Given the description of an element on the screen output the (x, y) to click on. 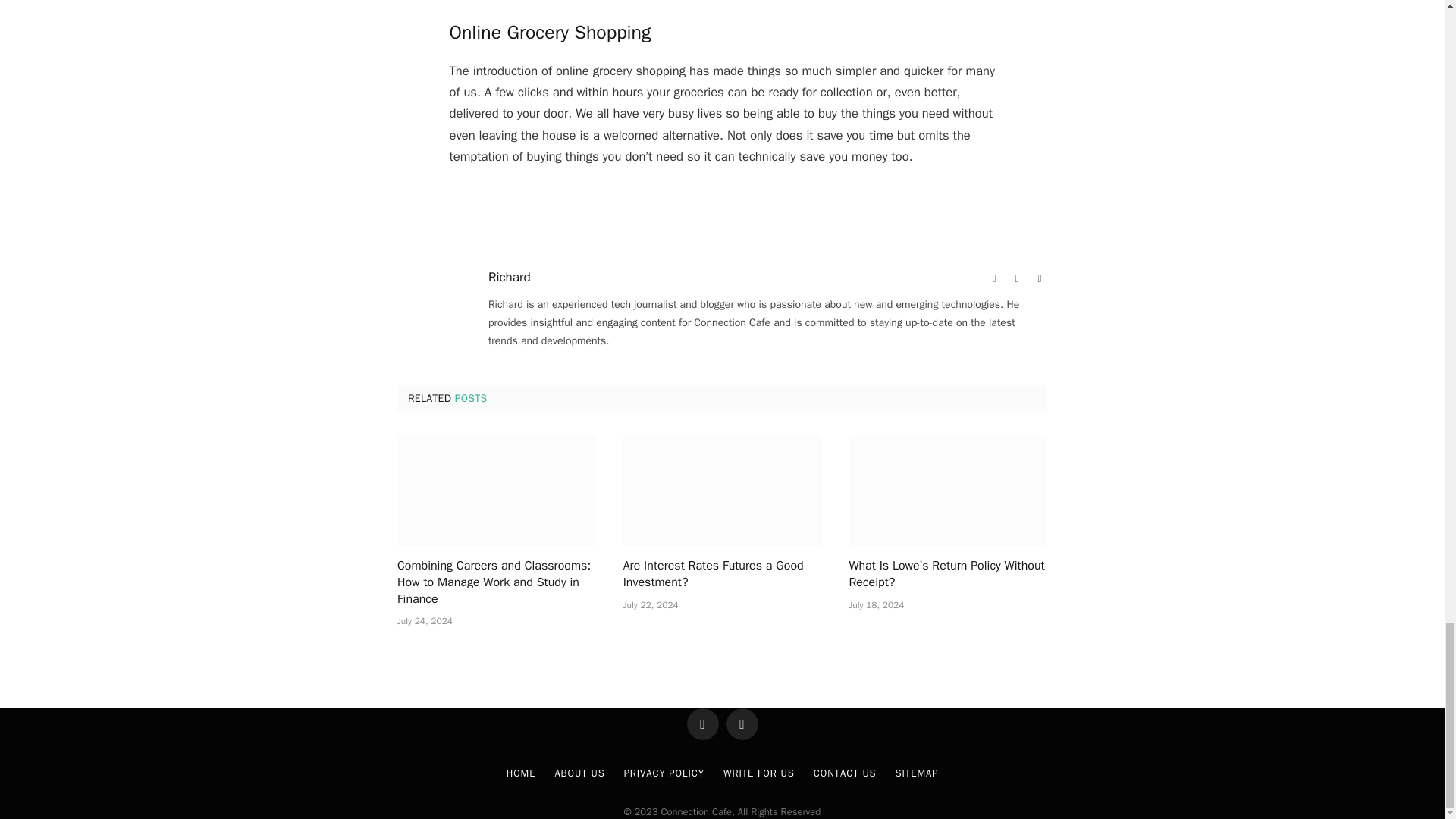
Posts by Richard (509, 277)
Website (994, 278)
Facebook (1017, 278)
Twitter (1039, 278)
Are Interest Rates Futures a Good Investment? (722, 490)
